Given the description of an element on the screen output the (x, y) to click on. 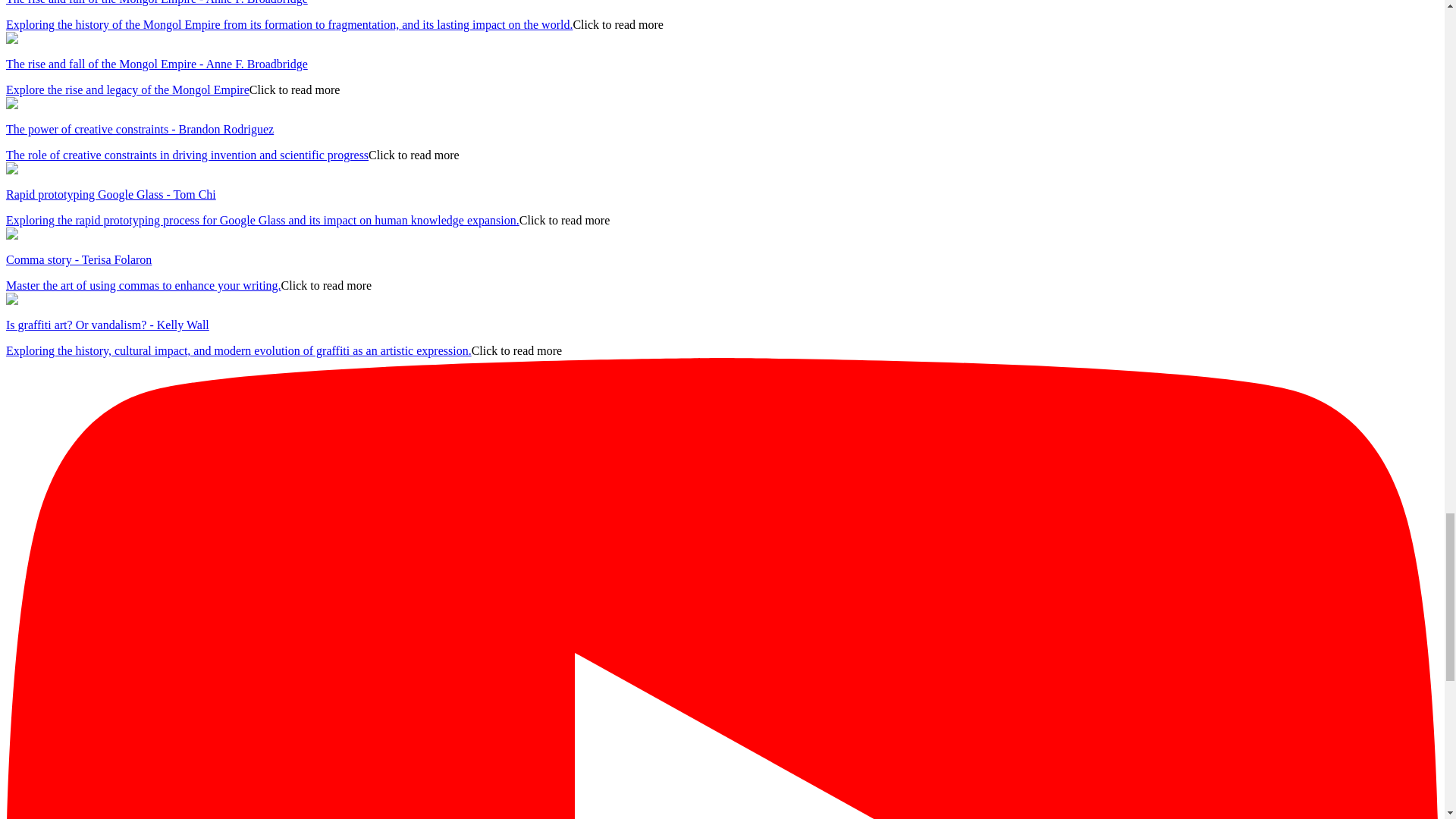
Rapid prototyping Google Glass - Tom Chi (110, 194)
Master the art of using commas to enhance your writing. (143, 285)
Explore the rise and legacy of the Mongol Empire (126, 89)
The rise and fall of the Mongol Empire - Anne F. Broadbridge (156, 63)
Is graffiti art? Or vandalism? - Kelly Wall (107, 324)
Comma story - Terisa Folaron (78, 259)
